Given the description of an element on the screen output the (x, y) to click on. 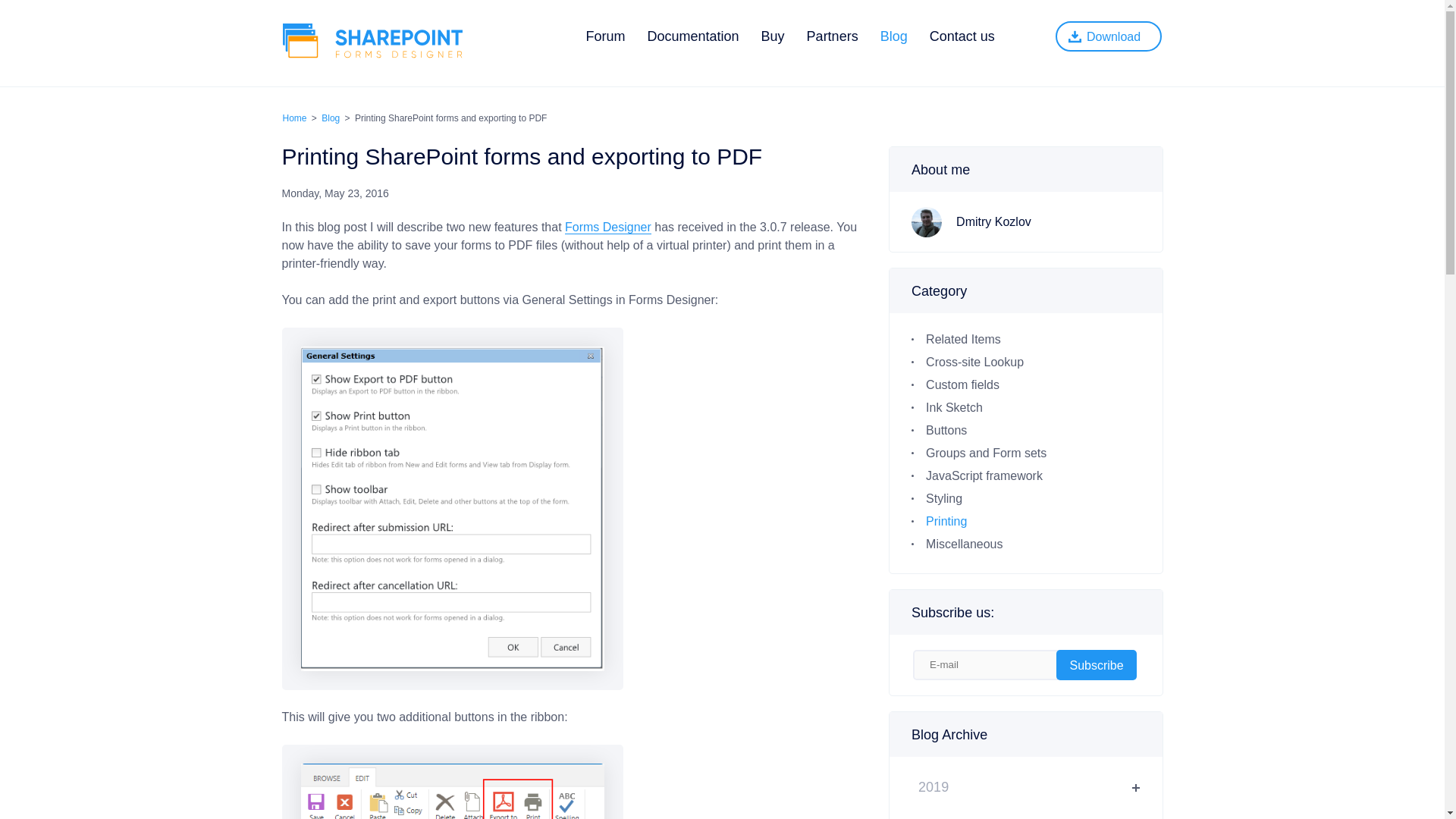
Forum (604, 36)
2018 (1025, 814)
Blog (330, 118)
Subscribe (1097, 665)
Groups and Form sets (986, 452)
Buttons (946, 430)
Documentation (693, 36)
2019 (1025, 790)
Cross-site Lookup (974, 361)
Contact us (962, 36)
